Given the description of an element on the screen output the (x, y) to click on. 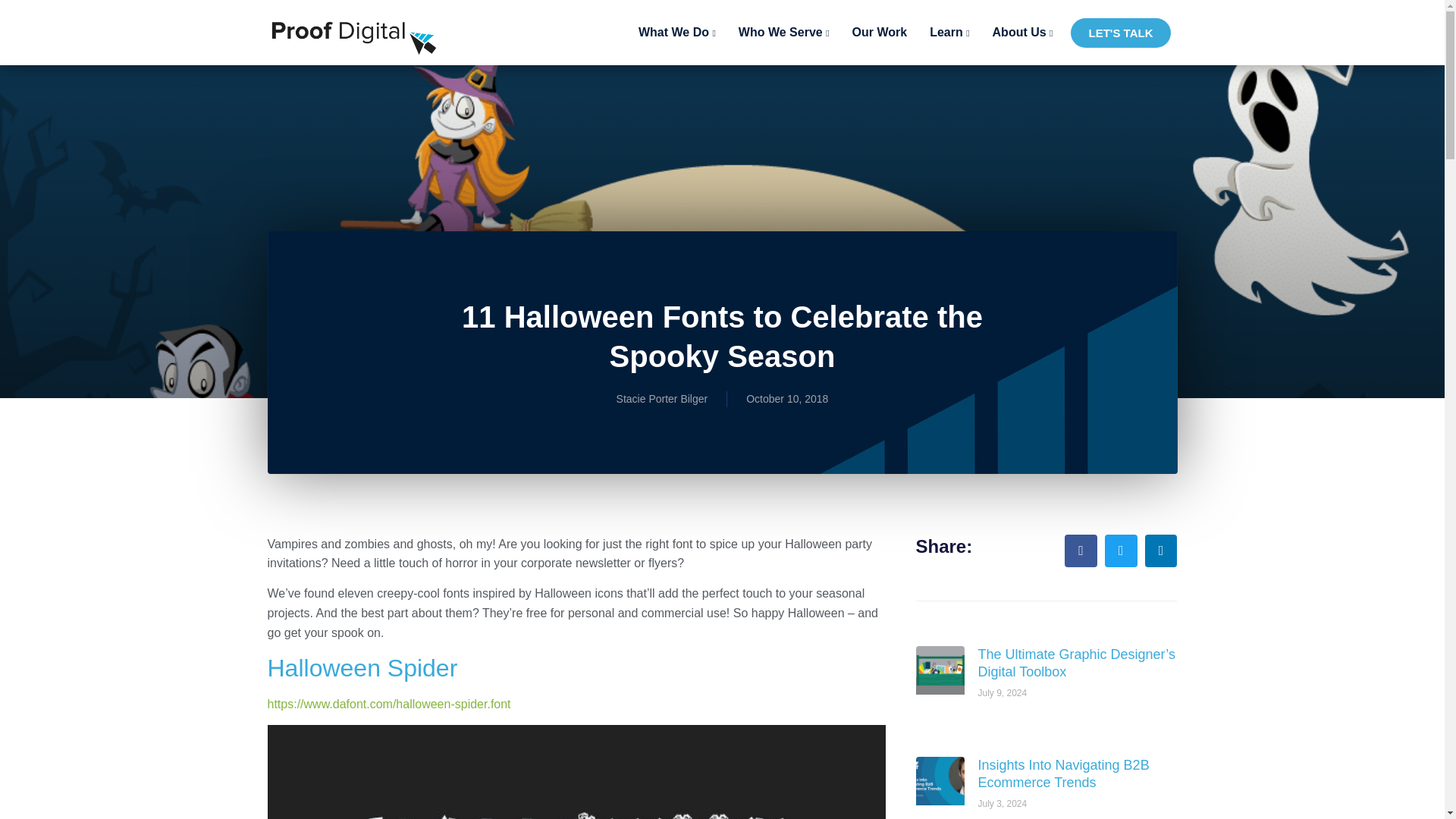
About Us (1023, 32)
LET'S TALK (1121, 32)
Learn (948, 32)
Who We Serve (783, 32)
What We Do (676, 32)
Our Work (879, 32)
